Given the description of an element on the screen output the (x, y) to click on. 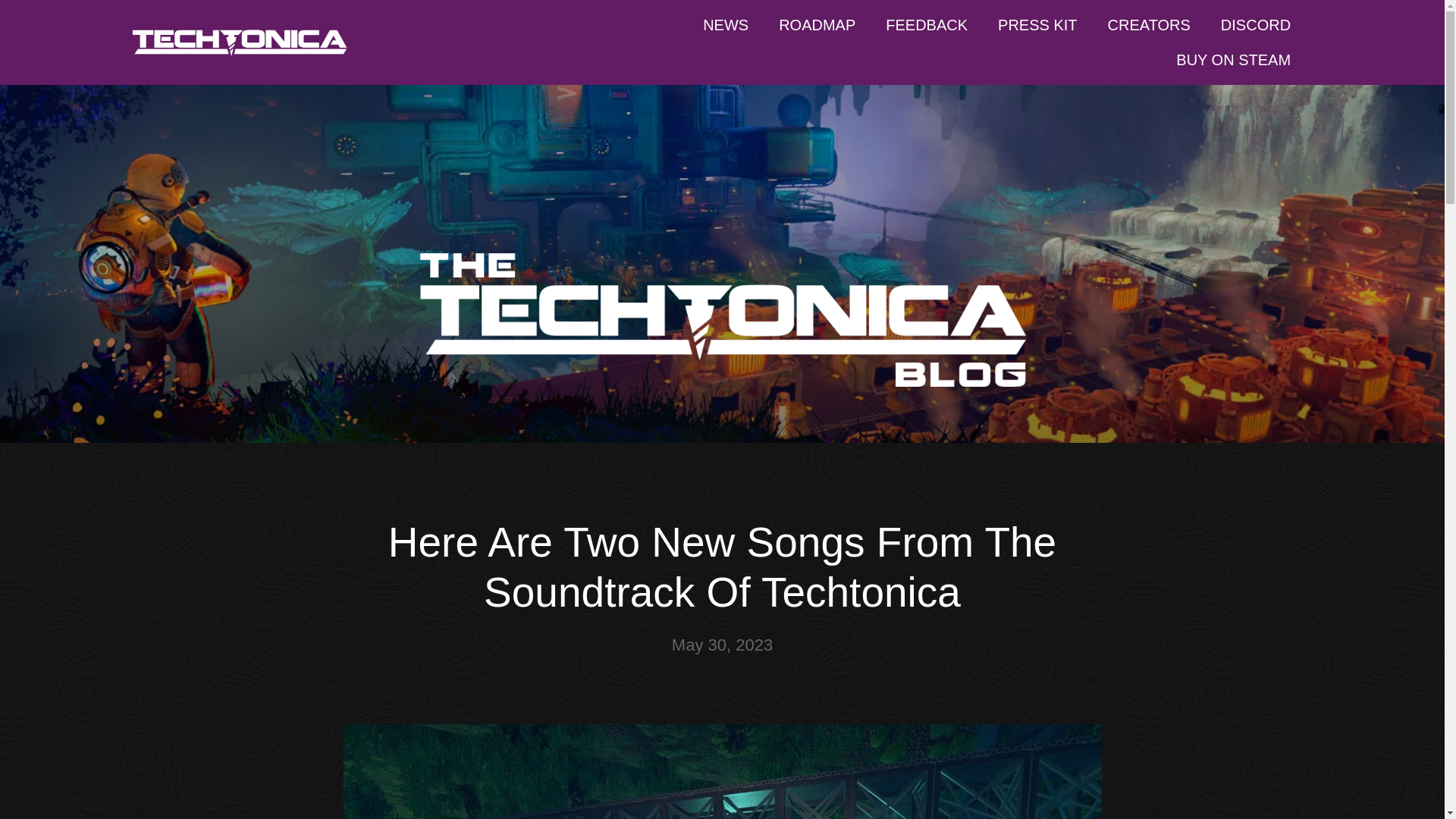
PRESS KIT (1037, 24)
FEEDBACK (926, 24)
DISCORD (1255, 24)
BUY ON STEAM (1233, 59)
CREATORS (1149, 24)
May 30, 2023 (722, 644)
NEWS (724, 24)
ROADMAP (816, 24)
